Given the description of an element on the screen output the (x, y) to click on. 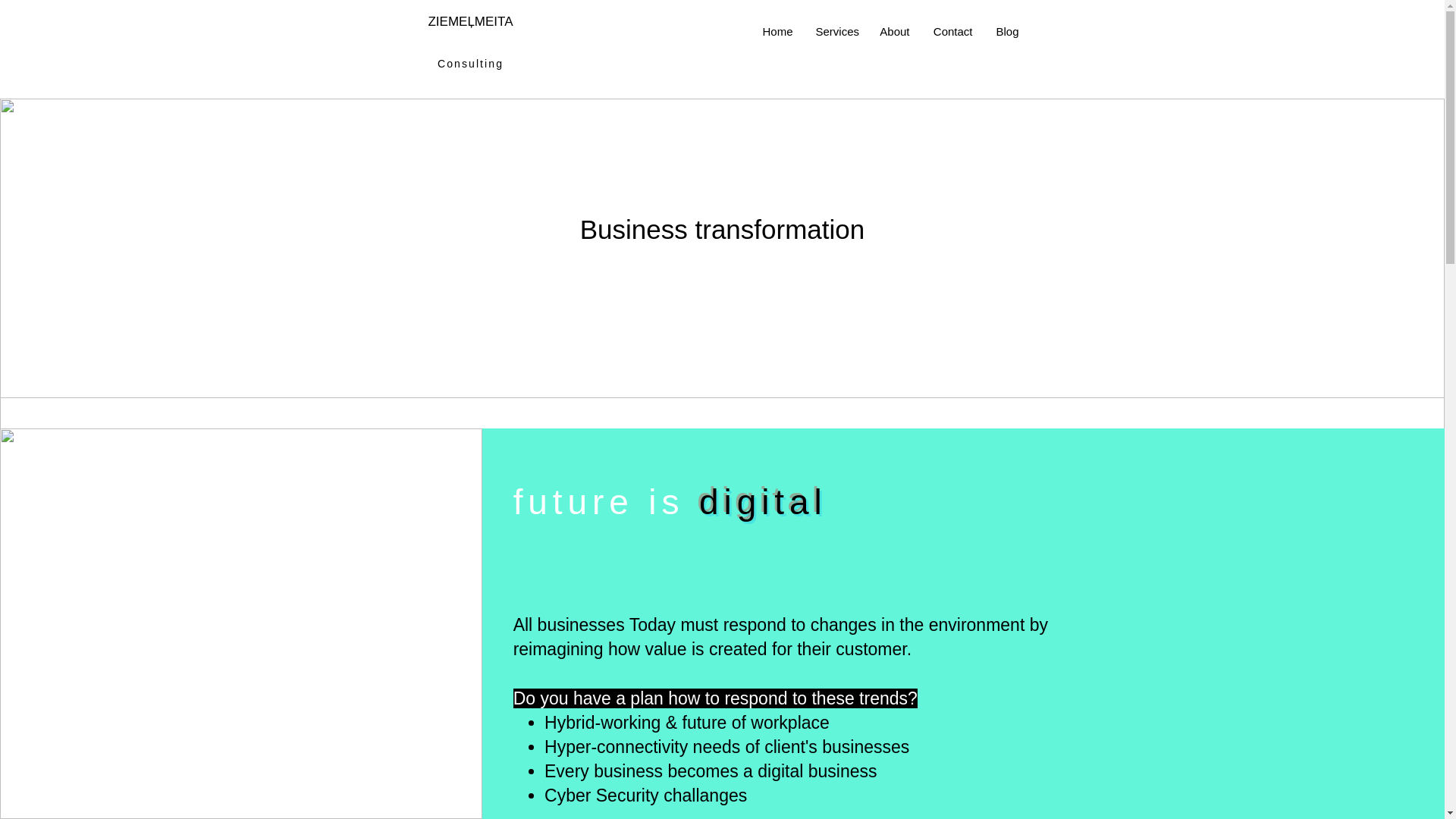
Consulting (470, 63)
Home (778, 31)
Services (834, 31)
Blog (1007, 31)
Contact (952, 31)
About (894, 31)
